Given the description of an element on the screen output the (x, y) to click on. 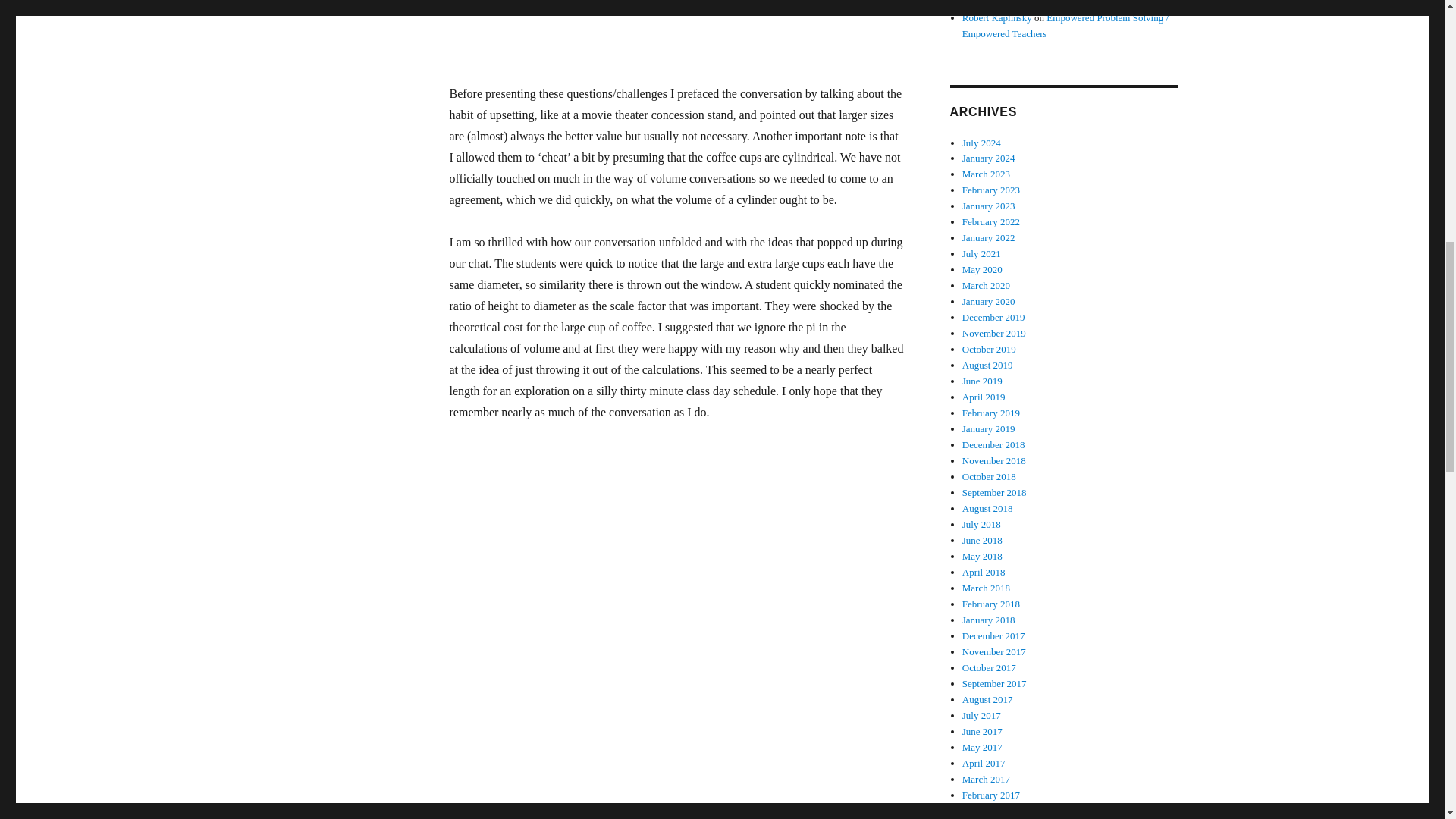
February 2023 (991, 189)
January 2024 (988, 157)
January 2023 (988, 205)
May 2020 (982, 269)
July 2024 (981, 142)
January 2022 (988, 237)
March 2023 (986, 173)
Robert Kaplinsky (997, 17)
February 2022 (991, 221)
July 2021 (981, 253)
